Given the description of an element on the screen output the (x, y) to click on. 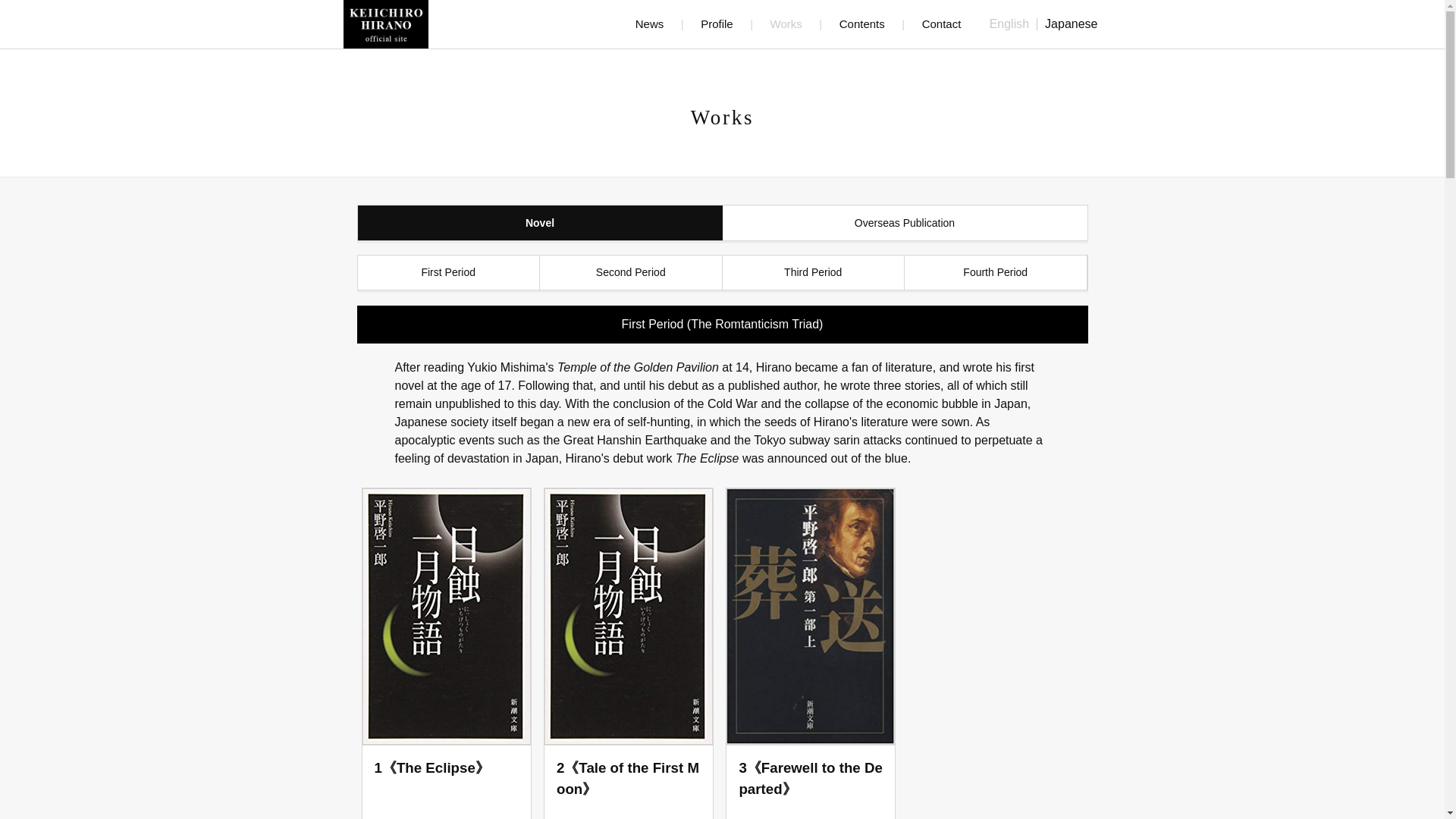
Contents (862, 23)
Japanese (1070, 24)
Third Period (813, 272)
Works (786, 23)
First Period (449, 272)
Second Period (631, 272)
Profile (716, 23)
Fourth Period (995, 272)
News (648, 23)
Overseas Publication (904, 222)
Contact (940, 23)
